Given the description of an element on the screen output the (x, y) to click on. 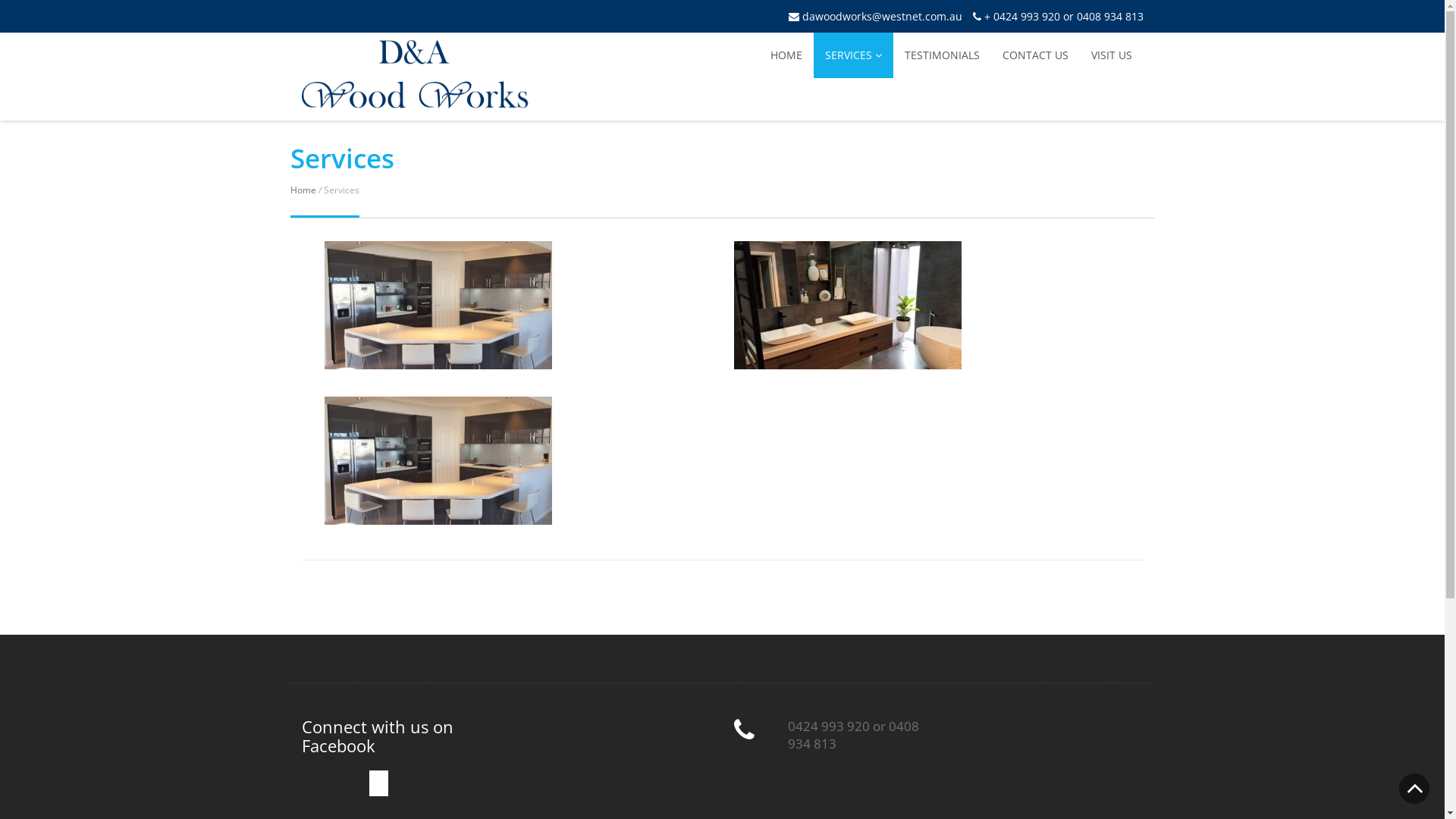
HOME Element type: text (785, 55)
+ 0424 993 920 or 0408 934 813 Element type: text (1057, 16)
SERVICES Element type: text (852, 55)
VISIT US Element type: text (1111, 55)
D & A Wood Works Element type: hover (415, 99)
TESTIMONIALS Element type: text (942, 55)
dawoodworks@westnet.com.au Element type: text (875, 16)
Home Element type: text (302, 189)
CONTACT US Element type: text (1034, 55)
